Given the description of an element on the screen output the (x, y) to click on. 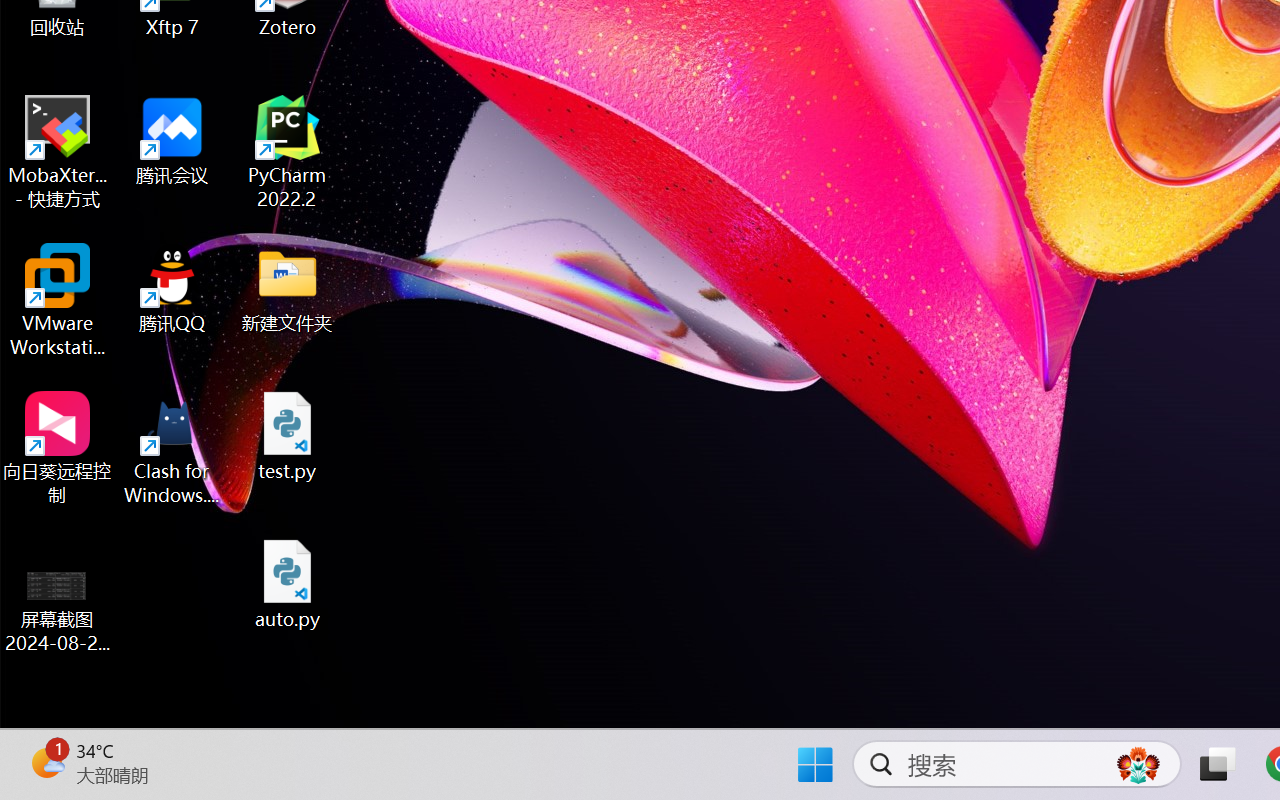
VMware Workstation Pro (57, 300)
